Given the description of an element on the screen output the (x, y) to click on. 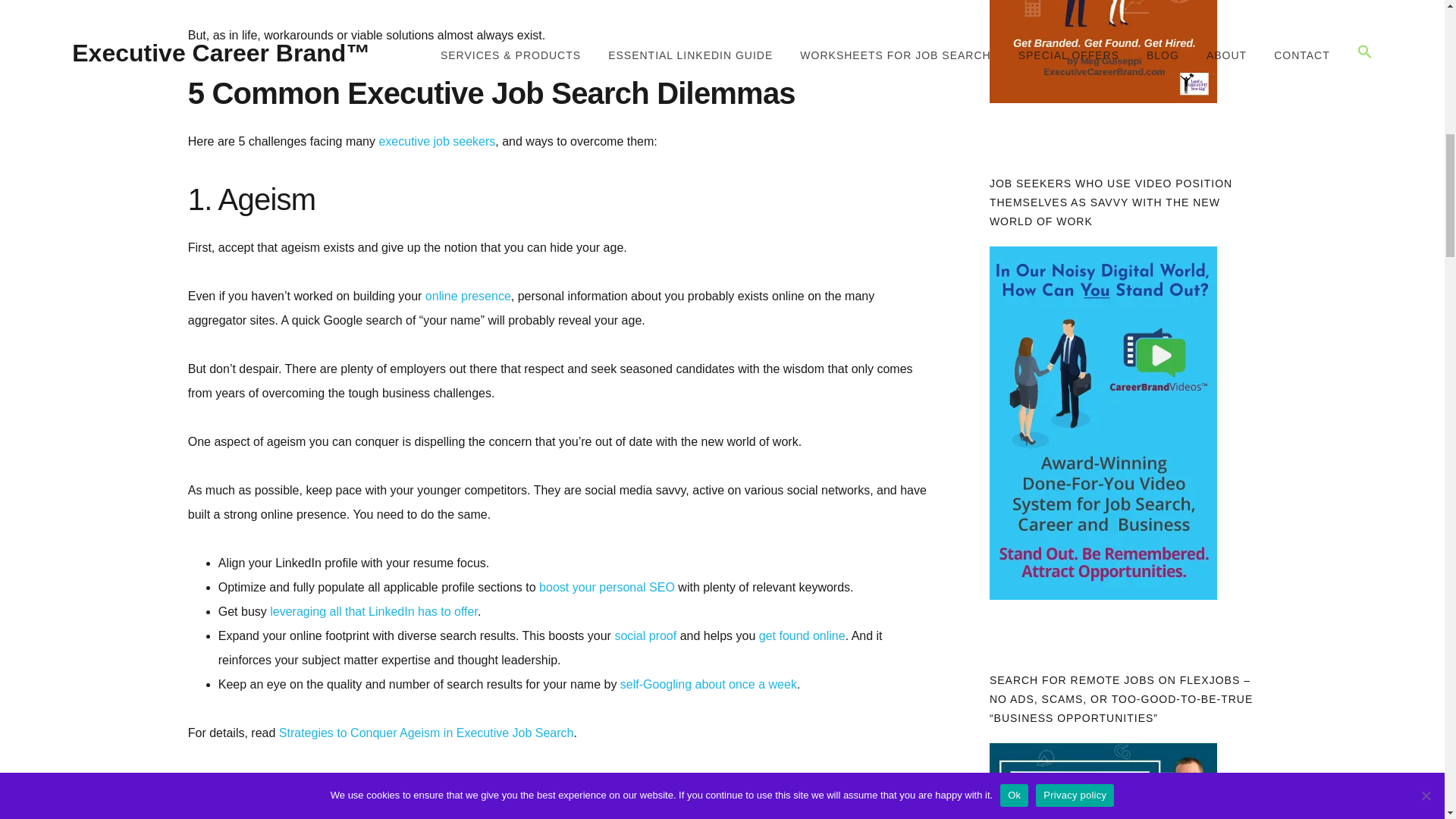
executive job seekers (436, 141)
boost your personal SEO (606, 586)
get found online (801, 635)
online presence (468, 295)
social proof (645, 635)
leveraging all that LinkedIn has to offer (373, 611)
